Given the description of an element on the screen output the (x, y) to click on. 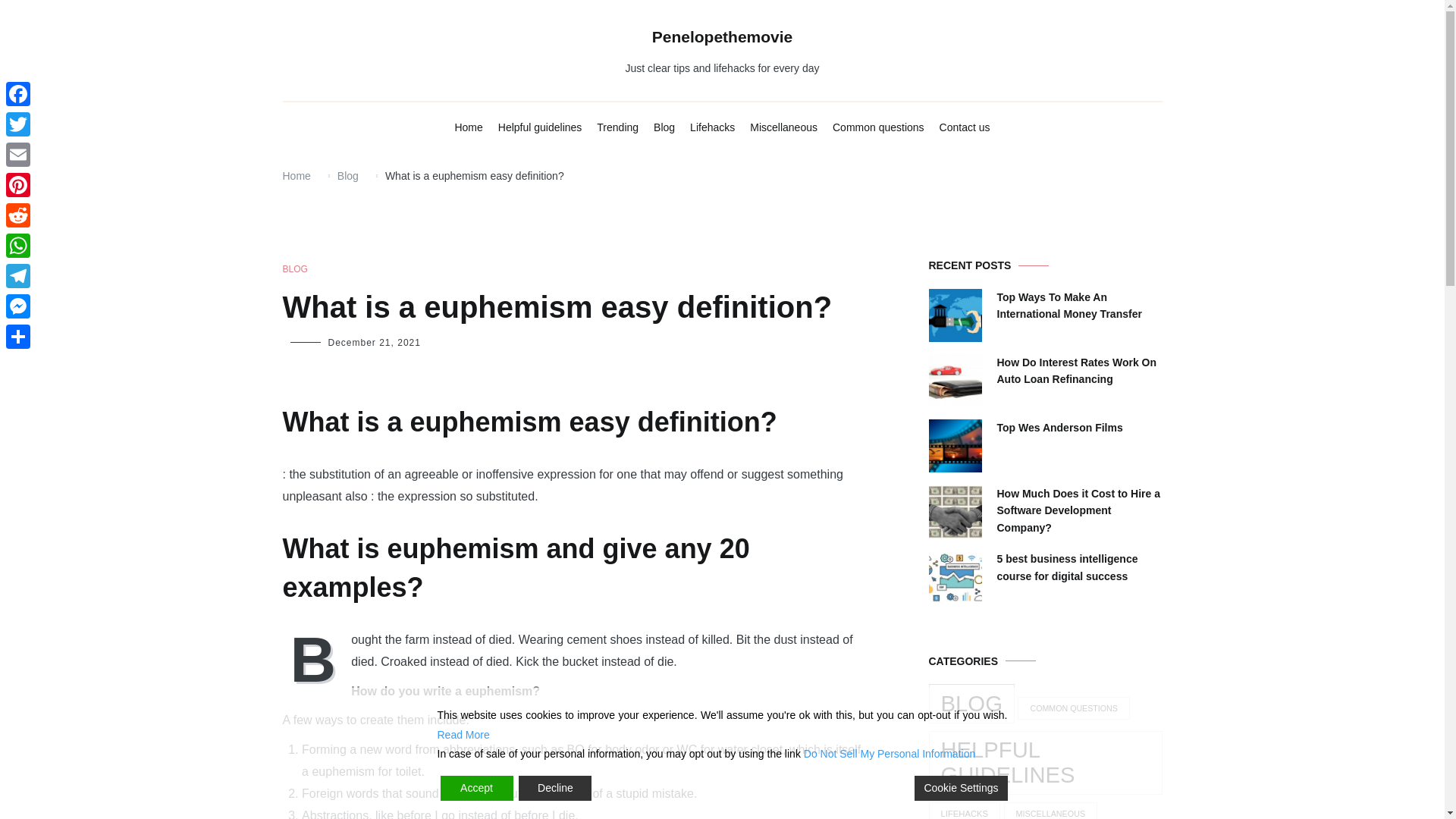
Lifehacks (712, 127)
Pinterest (17, 184)
Contact us (964, 127)
Helpful guidelines (539, 127)
Blog (347, 175)
Reddit (17, 214)
HELPFUL GUIDELINES (1044, 762)
How Do Interest Rates Work On Auto Loan Refinancing (1078, 370)
Email (17, 154)
WhatsApp (17, 245)
Top Wes Anderson Films (1058, 427)
BLOG (294, 269)
Twitter (17, 123)
5 best business intelligence course for digital success (1078, 567)
COMMON QUESTIONS (1073, 707)
